Given the description of an element on the screen output the (x, y) to click on. 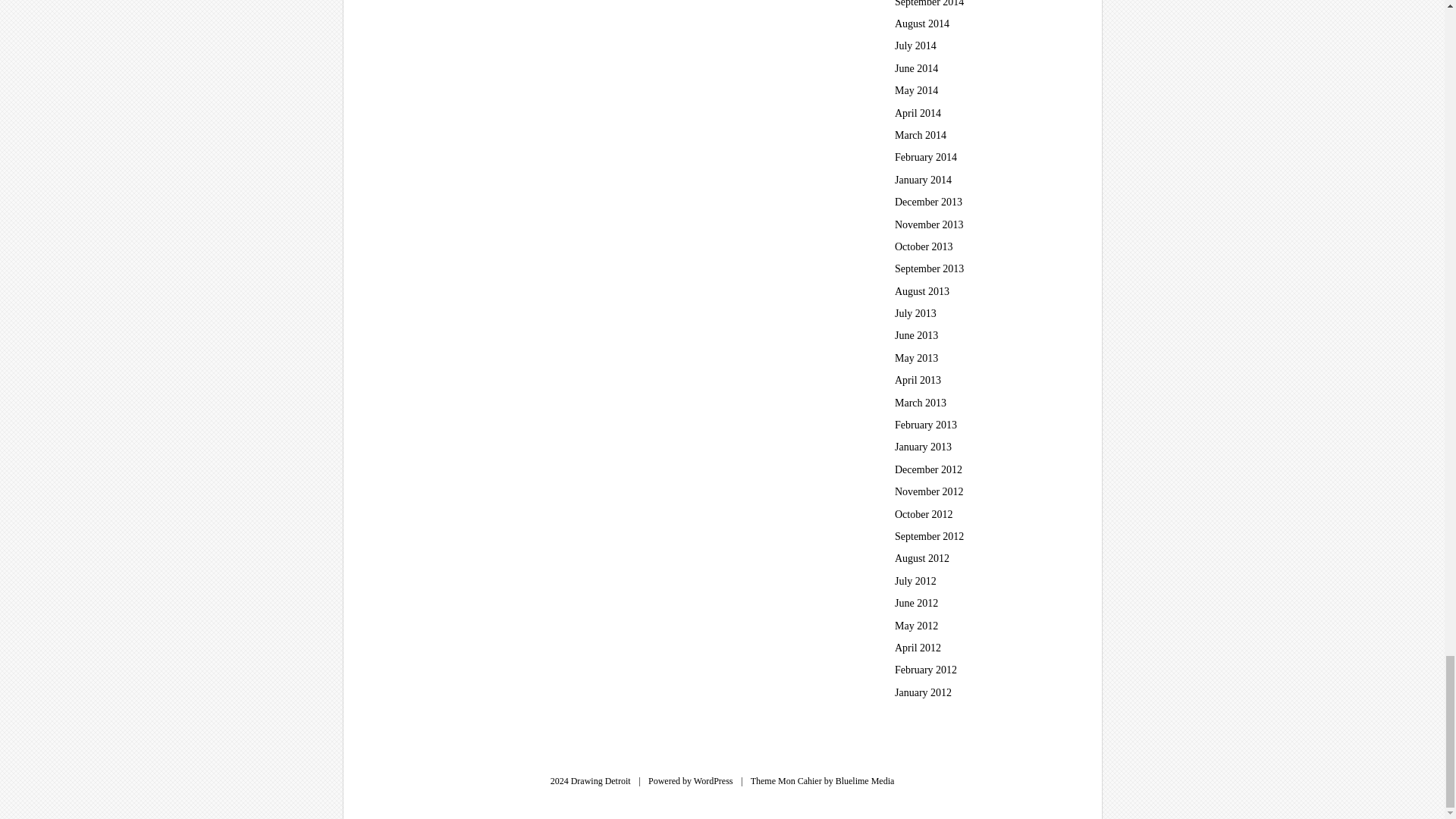
Semantic Personal Publishing Platform (713, 780)
Bluelime Media (865, 780)
